Given the description of an element on the screen output the (x, y) to click on. 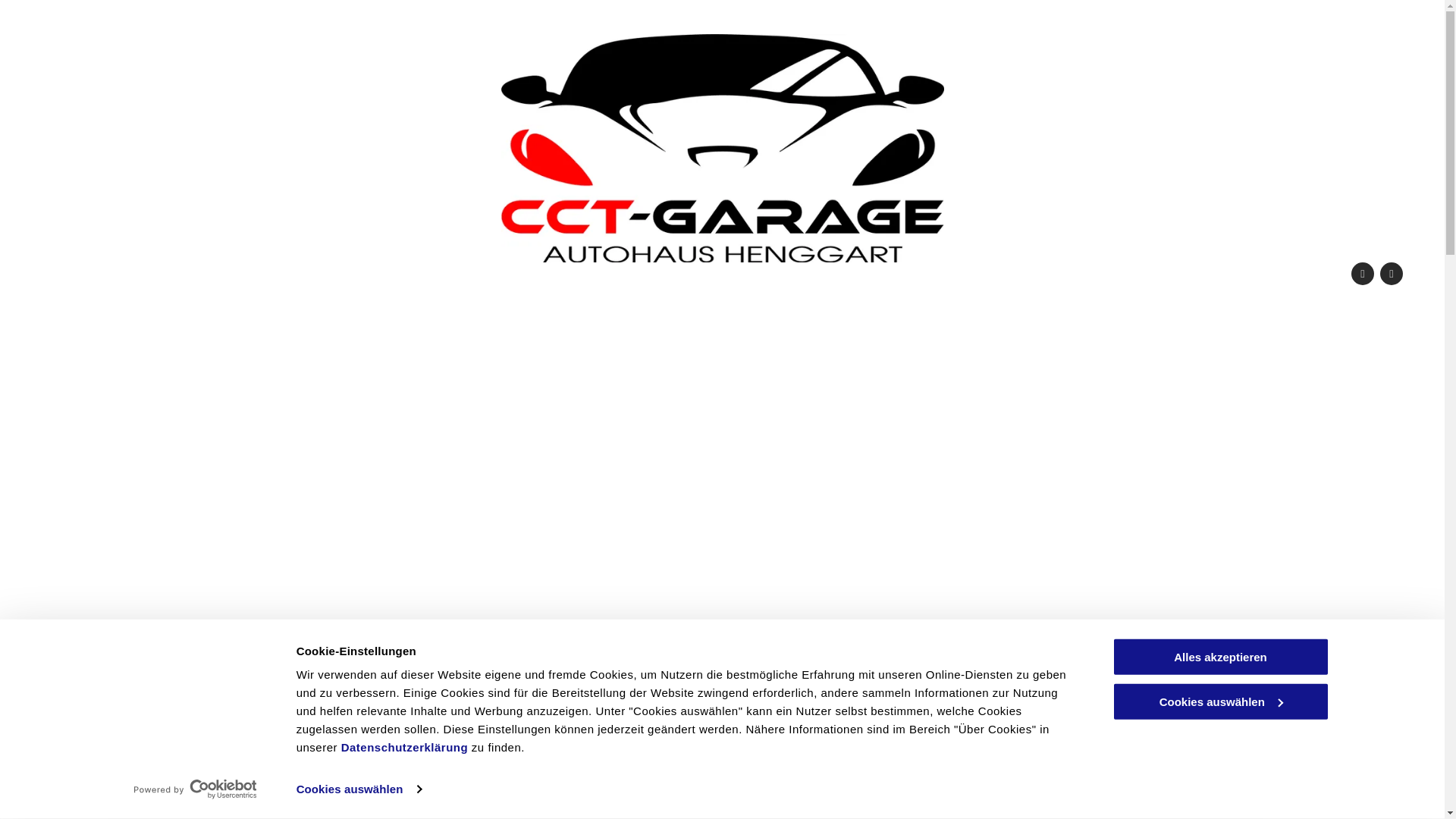
Alles akzeptieren Element type: text (1219, 656)
